Given the description of an element on the screen output the (x, y) to click on. 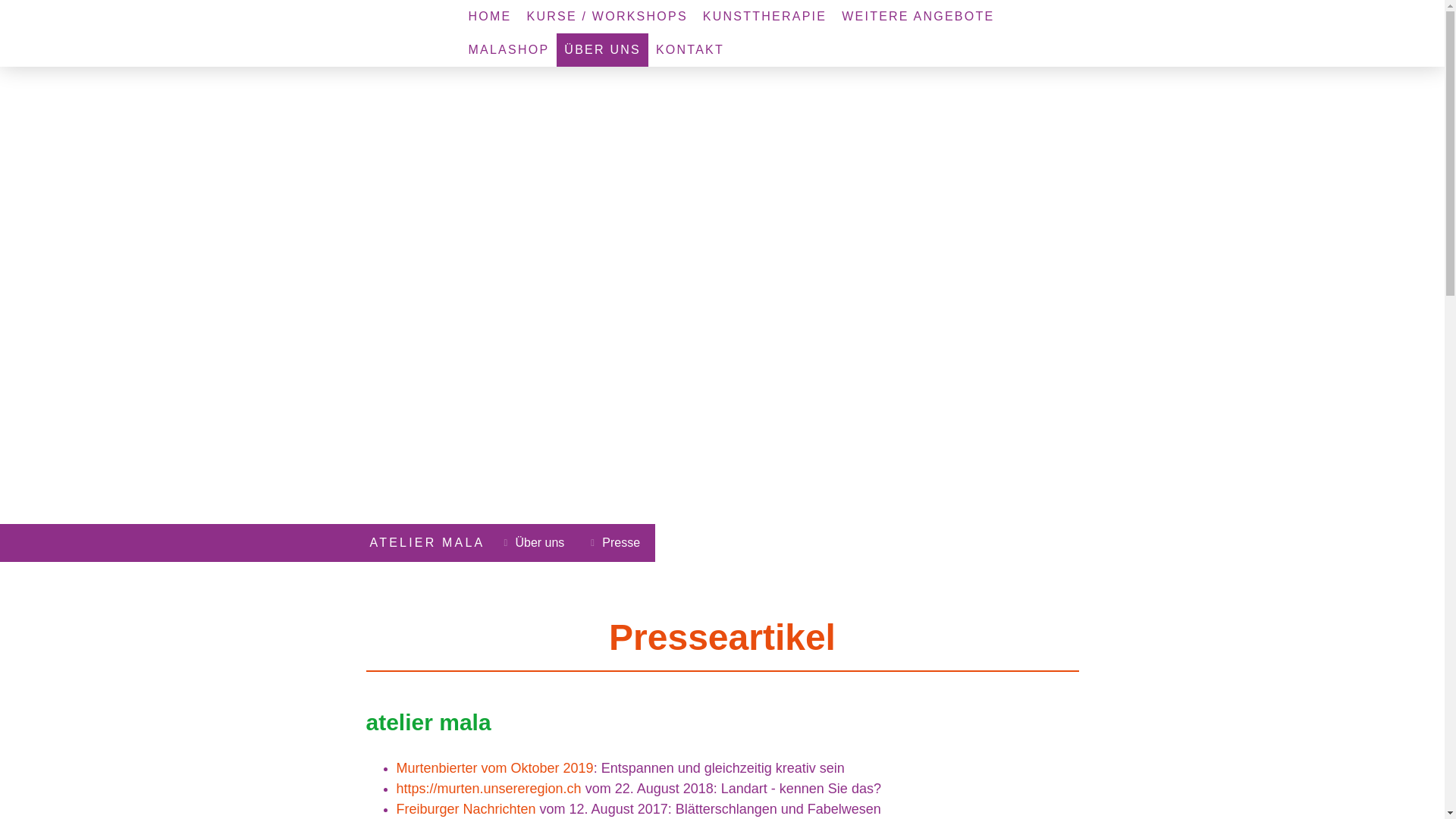
Presse Element type: text (617, 542)
Murtenbierter vom Oktober 2019 Element type: text (494, 767)
KURSE / WORKSHOPS Element type: text (606, 16)
MALASHOP Element type: text (509, 49)
WEITERE ANGEBOTE Element type: text (917, 16)
KUNSTTHERAPIE Element type: text (764, 16)
Freiburger Nachrichten Element type: text (465, 808)
ATELIER MALA Element type: text (427, 542)
HOME Element type: text (490, 16)
https://murten.unsereregion.ch Element type: text (487, 788)
KONTAKT Element type: text (689, 49)
